Given the description of an element on the screen output the (x, y) to click on. 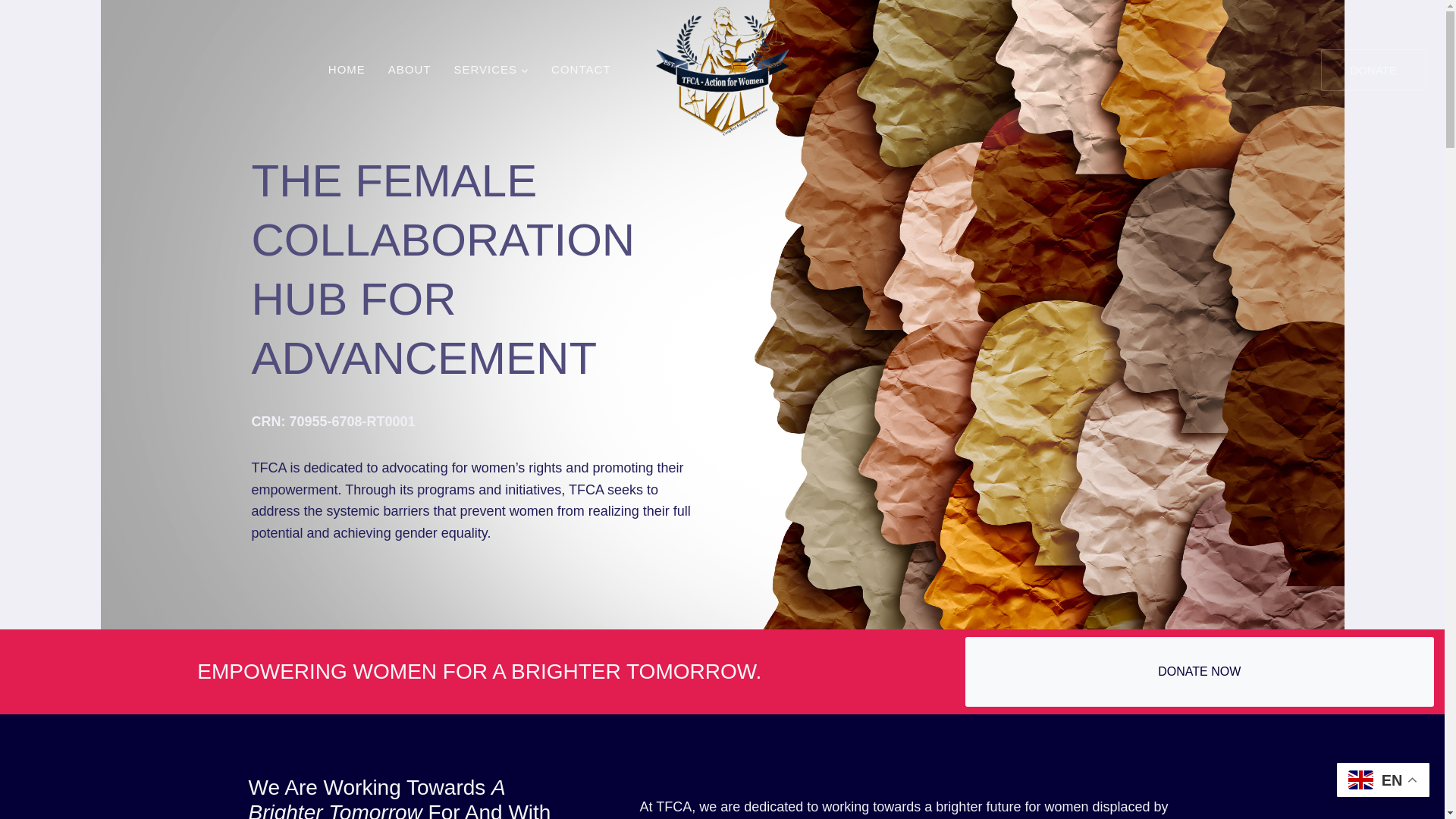
DONATE NOW (1199, 671)
ABOUT (409, 69)
HOME (347, 69)
CONTACT (580, 69)
DONATE (1373, 69)
SERVICES (491, 69)
